Given the description of an element on the screen output the (x, y) to click on. 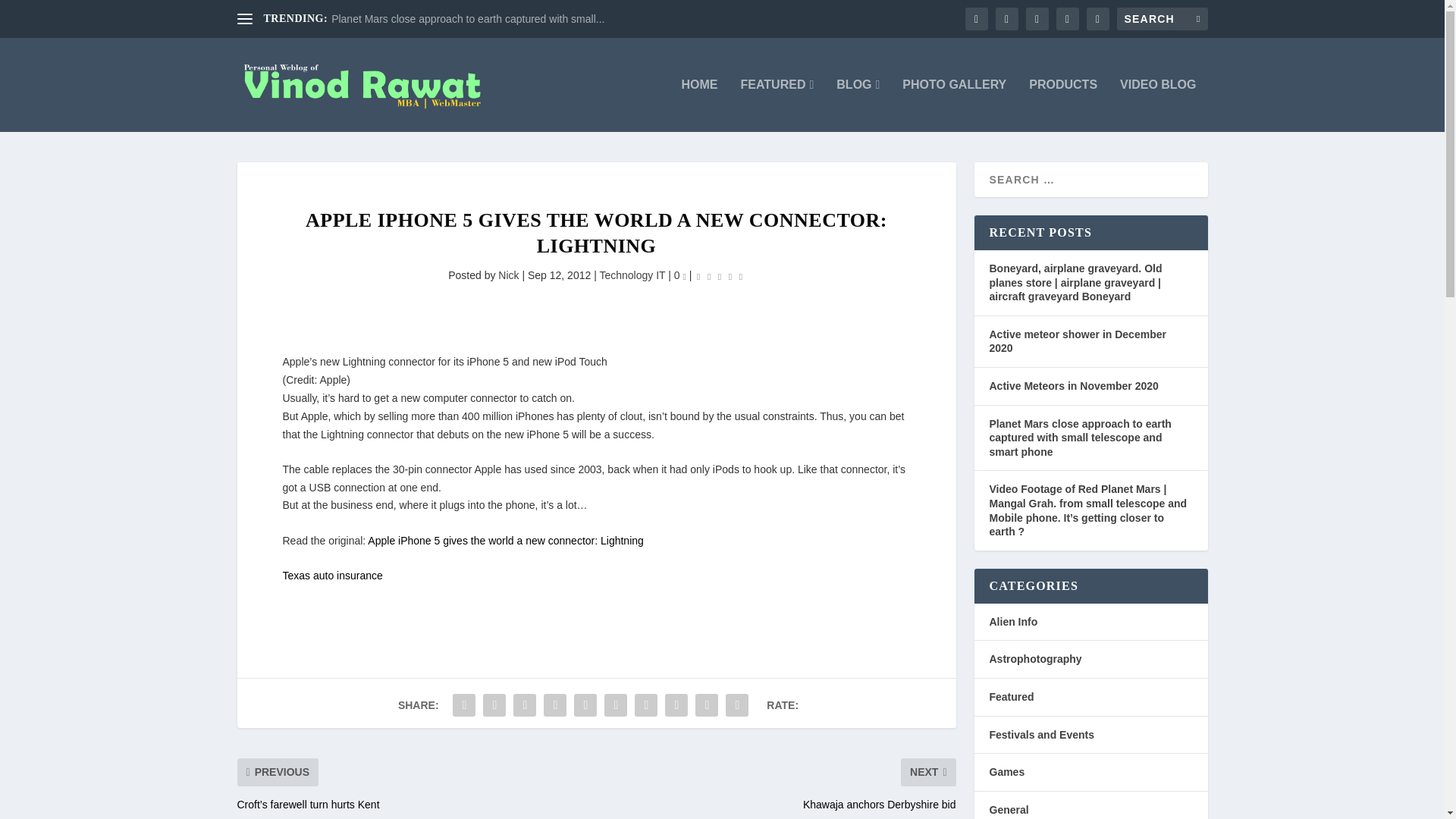
Search for: (1161, 18)
Posts by Nick (507, 275)
Planet Mars close approach to earth captured with small... (467, 19)
FEATURED (777, 104)
